Given the description of an element on the screen output the (x, y) to click on. 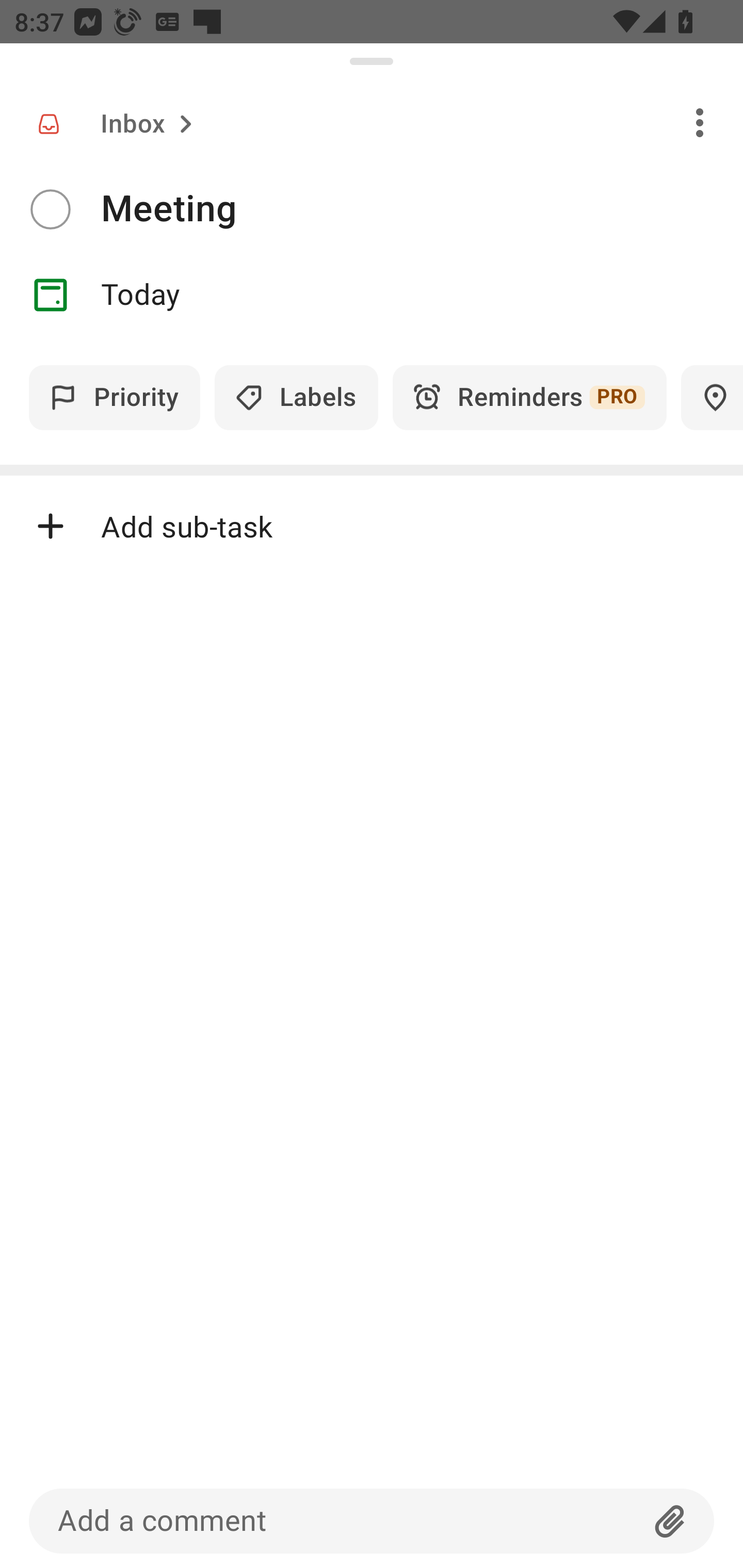
Overflow menu (699, 122)
Complete (50, 209)
Meeting​ (422, 209)
Date Today (371, 295)
Priority (113, 397)
Labels (296, 397)
Reminders PRO (529, 397)
Locations PRO (712, 397)
Add sub-task (371, 525)
Add a comment Attachment (371, 1520)
Attachment (670, 1520)
